Given the description of an element on the screen output the (x, y) to click on. 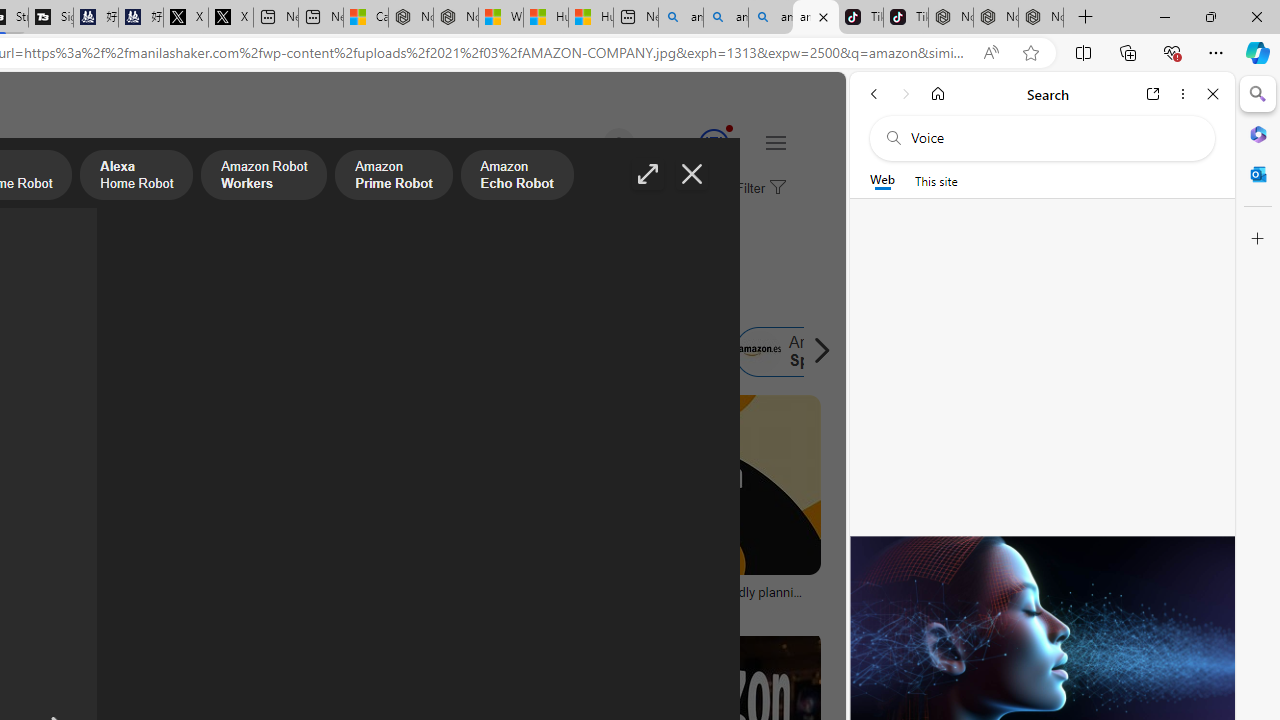
Nordace Siena Pro 15 Backpack (995, 17)
Amazon Forest (517, 351)
Amazon Logo (PNG e SVG) Download Vetorial Transparente (98, 598)
logopng.com.br (98, 606)
theverge.com (685, 606)
Amazon Robot Workers (263, 177)
Alexa Home Robot (136, 177)
Amazon.com.au (343, 351)
Class: item col (801, 351)
Forward (906, 93)
Close image (692, 173)
